Given the description of an element on the screen output the (x, y) to click on. 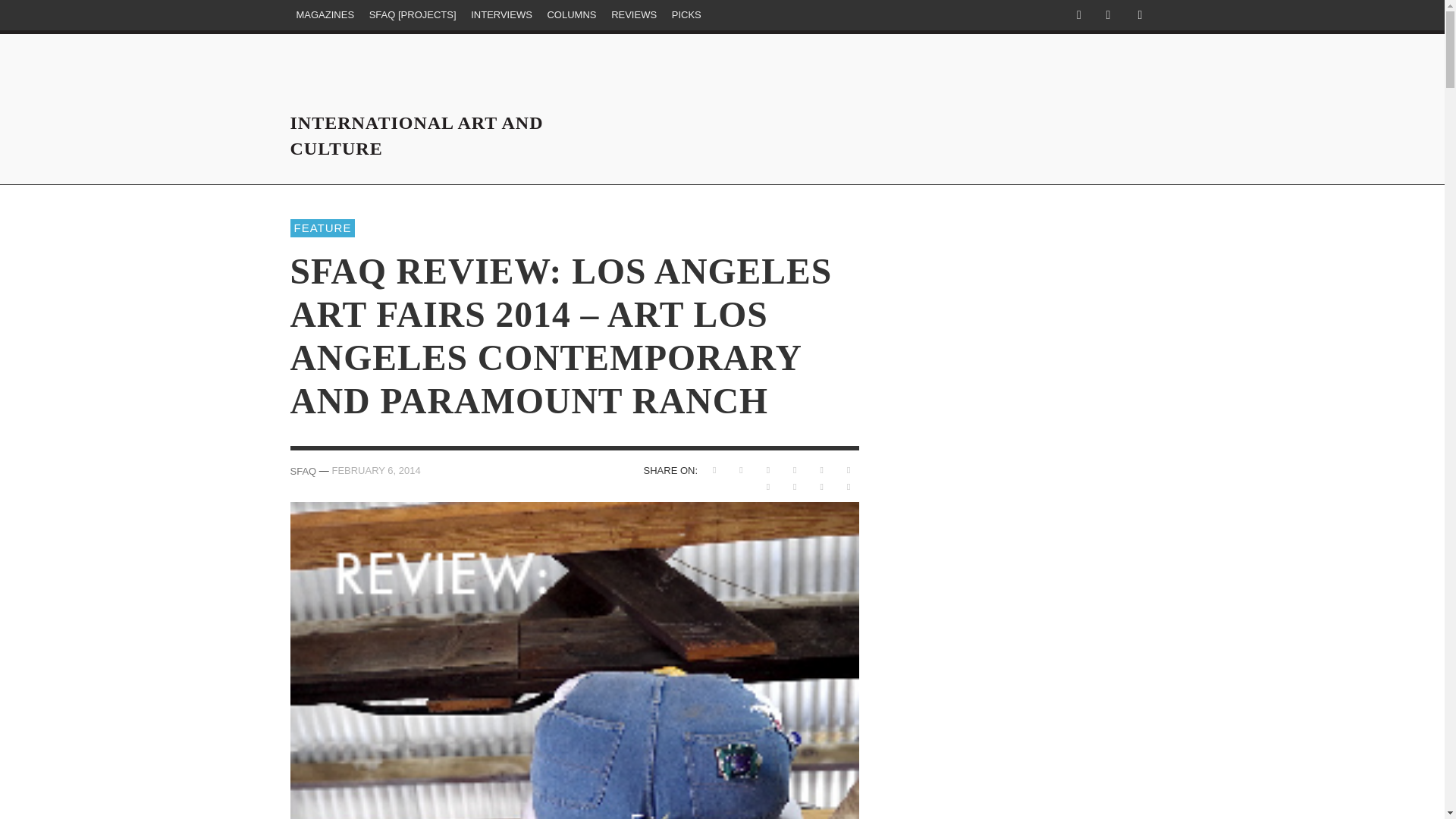
MAGAZINES (324, 15)
COLUMNS (571, 15)
Facebook (1078, 15)
Twitter (1107, 15)
INTERVIEWS (501, 15)
